Given the description of an element on the screen output the (x, y) to click on. 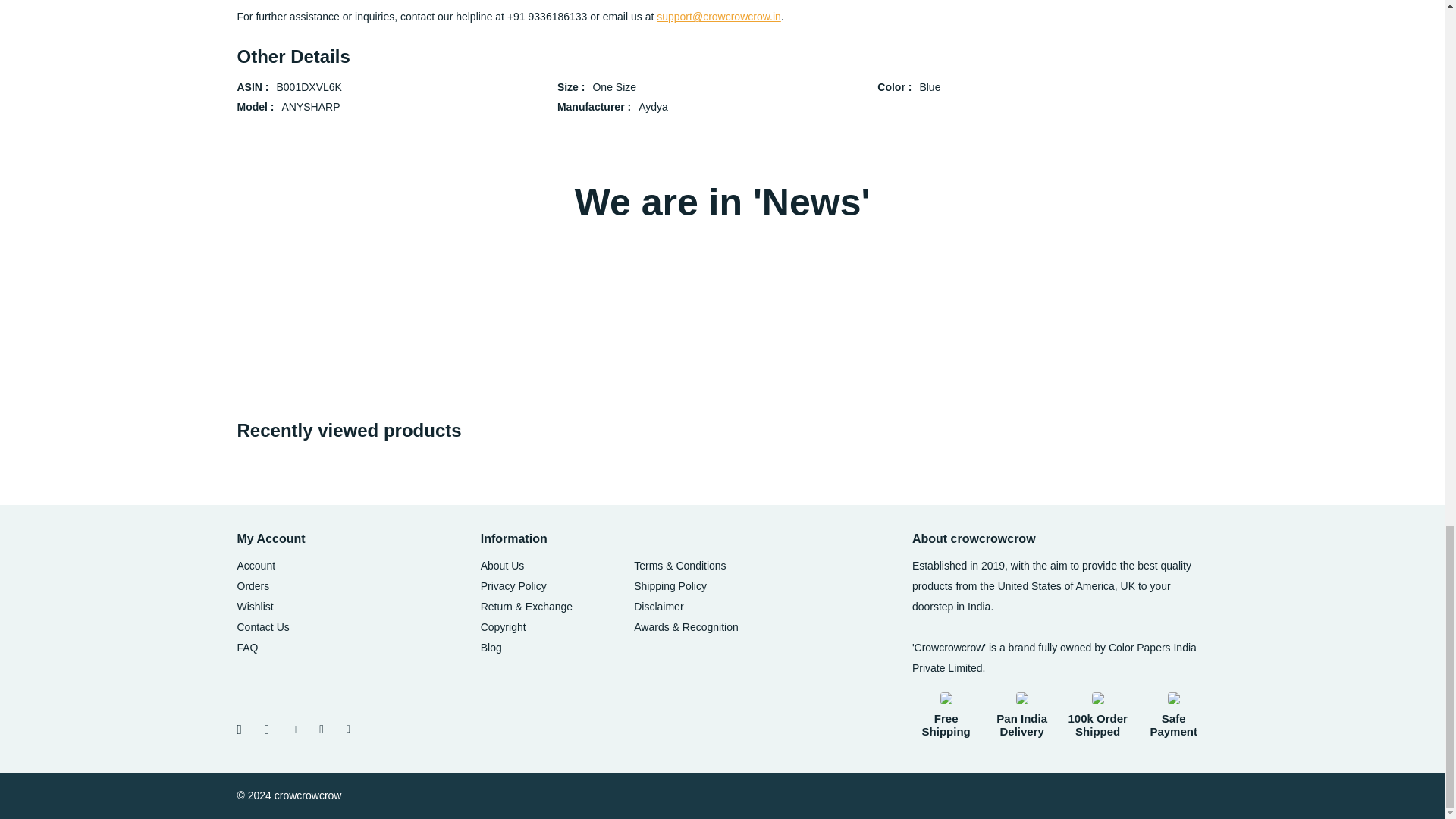
Account (255, 565)
Copyright (502, 626)
Privacy Policy (513, 585)
FAQ (246, 647)
About Us (502, 565)
Disclaimer (657, 606)
Orders (252, 585)
Shipping Policy (669, 585)
Wishlist (254, 606)
Blog (491, 647)
Contact Us (261, 626)
